Given the description of an element on the screen output the (x, y) to click on. 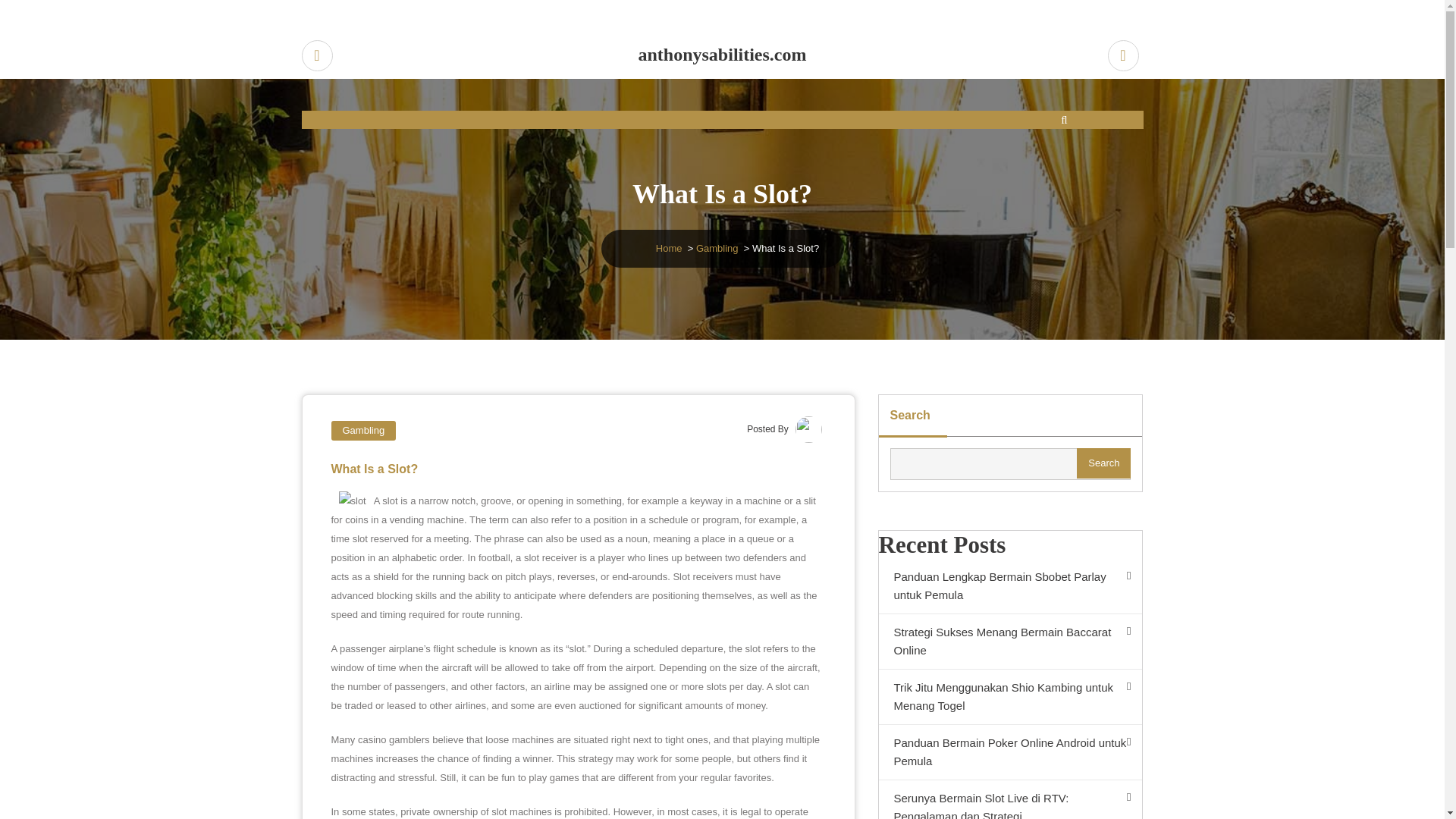
Strategi Sukses Menang Bermain Baccarat Online (1009, 641)
Trik Jitu Menggunakan Shio Kambing untuk Menang Togel (1009, 696)
Gambling (363, 430)
Gambling (716, 247)
Serunya Bermain Slot Live di RTV: Pengalaman dan Strategi (1009, 799)
Panduan Bermain Poker Online Android untuk Pemula (1009, 752)
anthonysabilities.com (722, 54)
Home (669, 247)
Search (1104, 462)
Panduan Lengkap Bermain Sbobet Parlay untuk Pemula (1009, 586)
